Given the description of an element on the screen output the (x, y) to click on. 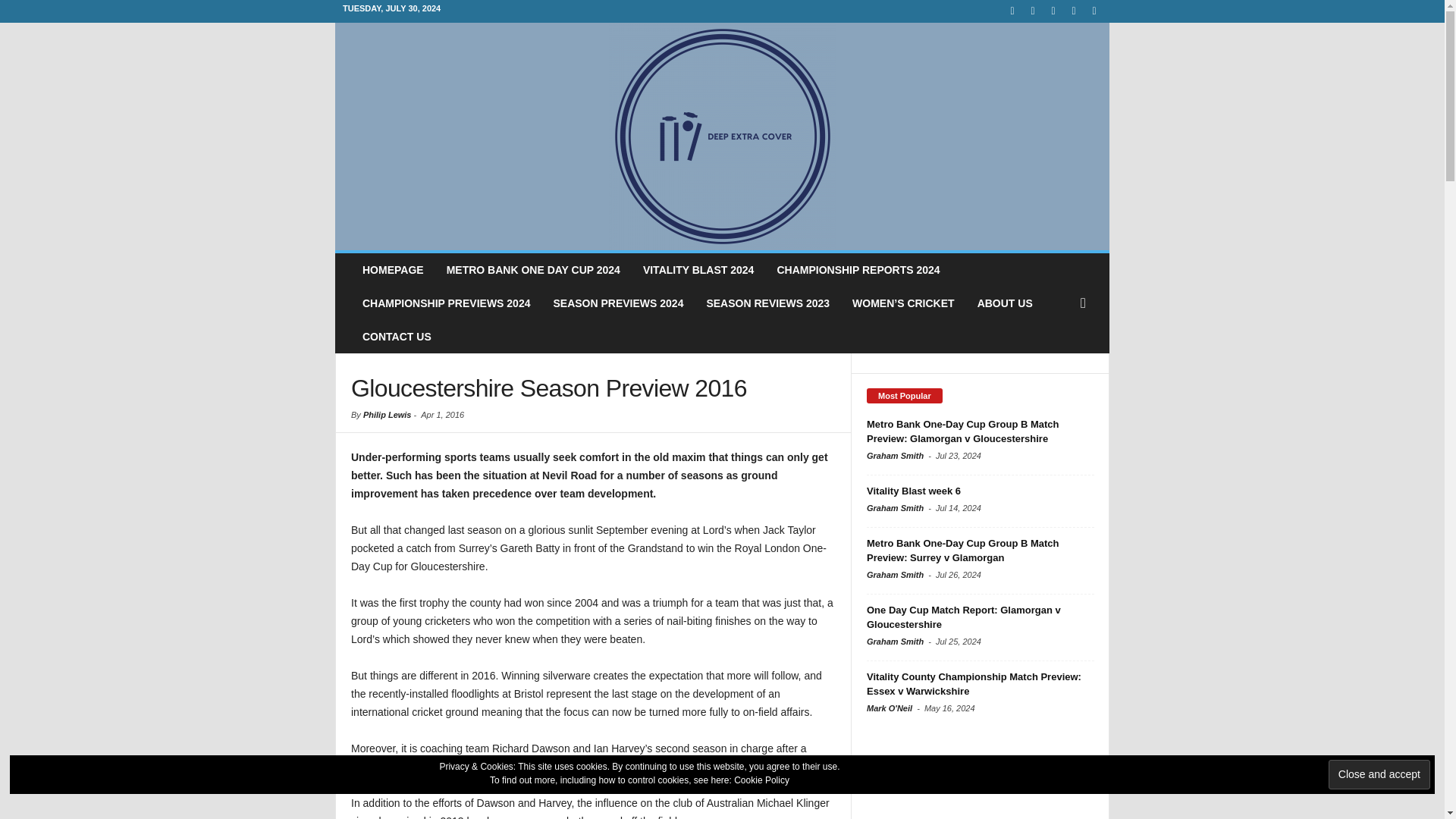
HOMEPAGE (392, 269)
Mail (1052, 10)
ABOUT US (1004, 303)
VITALITY BLAST 2024 (698, 269)
METRO BANK ONE DAY CUP 2024 (533, 269)
SEASON PREVIEWS 2024 (617, 303)
CHAMPIONSHIP PREVIEWS 2024 (445, 303)
Instagram (1032, 10)
Philip Lewis (387, 414)
Close and accept (1378, 774)
www.deepextracover.com (721, 136)
CHAMPIONSHIP REPORTS 2024 (857, 269)
Twitter (1093, 10)
CONTACT US (396, 336)
Rss (1073, 10)
